Given the description of an element on the screen output the (x, y) to click on. 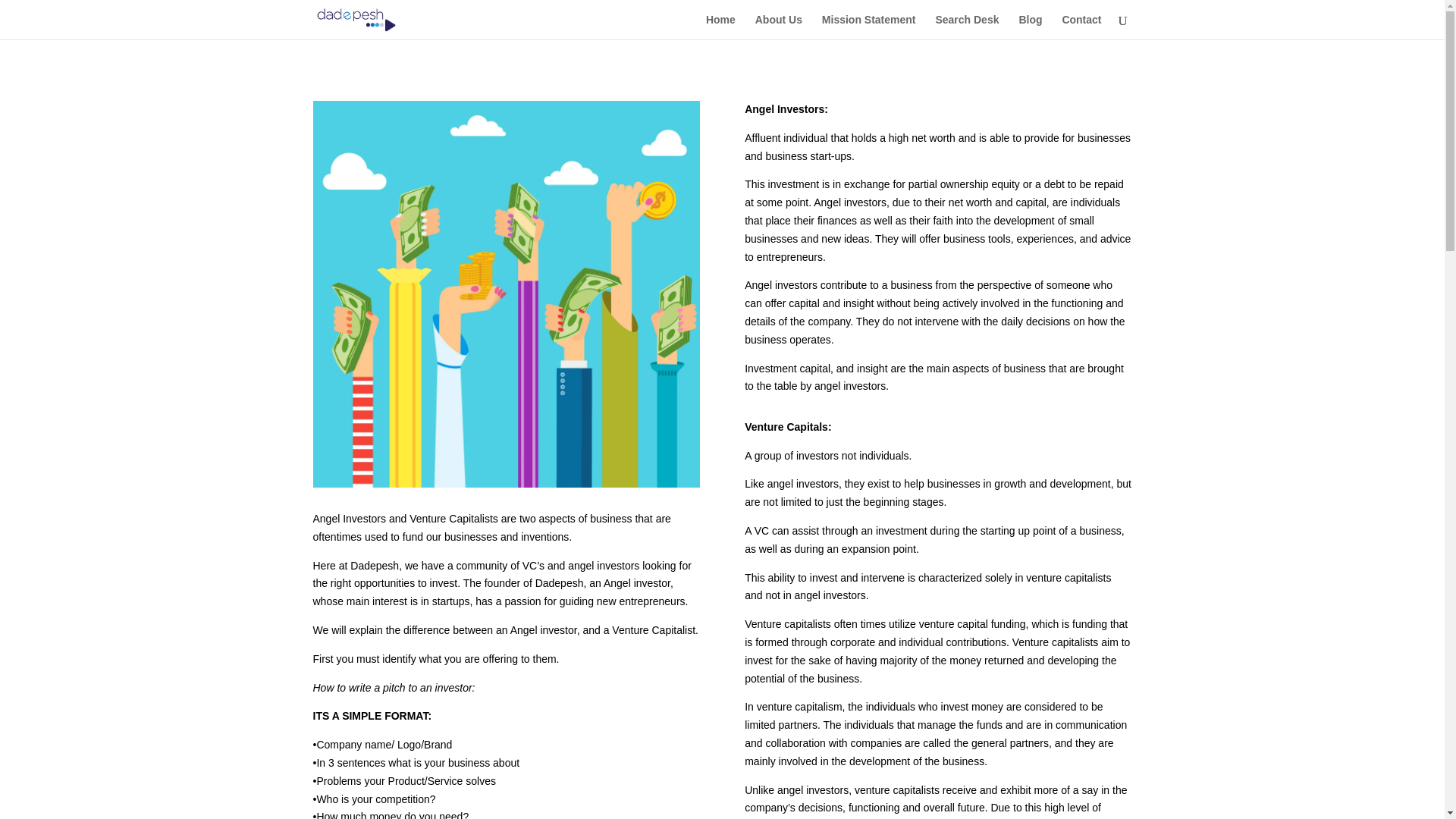
Contact (1080, 26)
Home (720, 26)
About Us (778, 26)
Search Desk (966, 26)
Blog (1029, 26)
Mission Statement (868, 26)
